Given the description of an element on the screen output the (x, y) to click on. 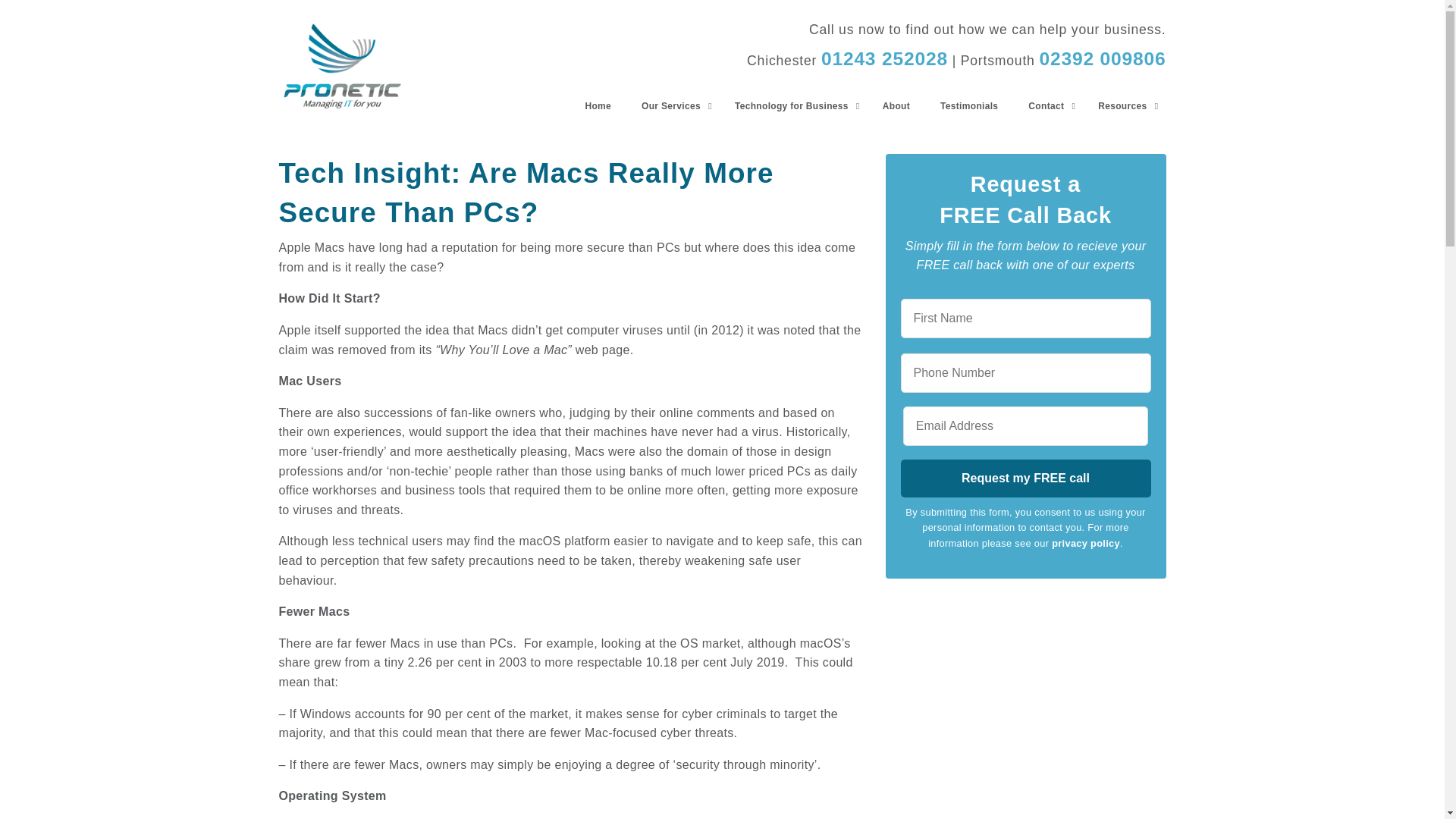
Technology for Business (793, 106)
Contact (1048, 106)
Home (597, 106)
Testimonials (968, 106)
privacy policy (1085, 542)
Resources (1124, 106)
About (895, 106)
01243 252028 (884, 58)
Our Services (672, 106)
Request my FREE call (1026, 478)
02392 009806 (1102, 58)
Request my FREE call (1026, 478)
